Given the description of an element on the screen output the (x, y) to click on. 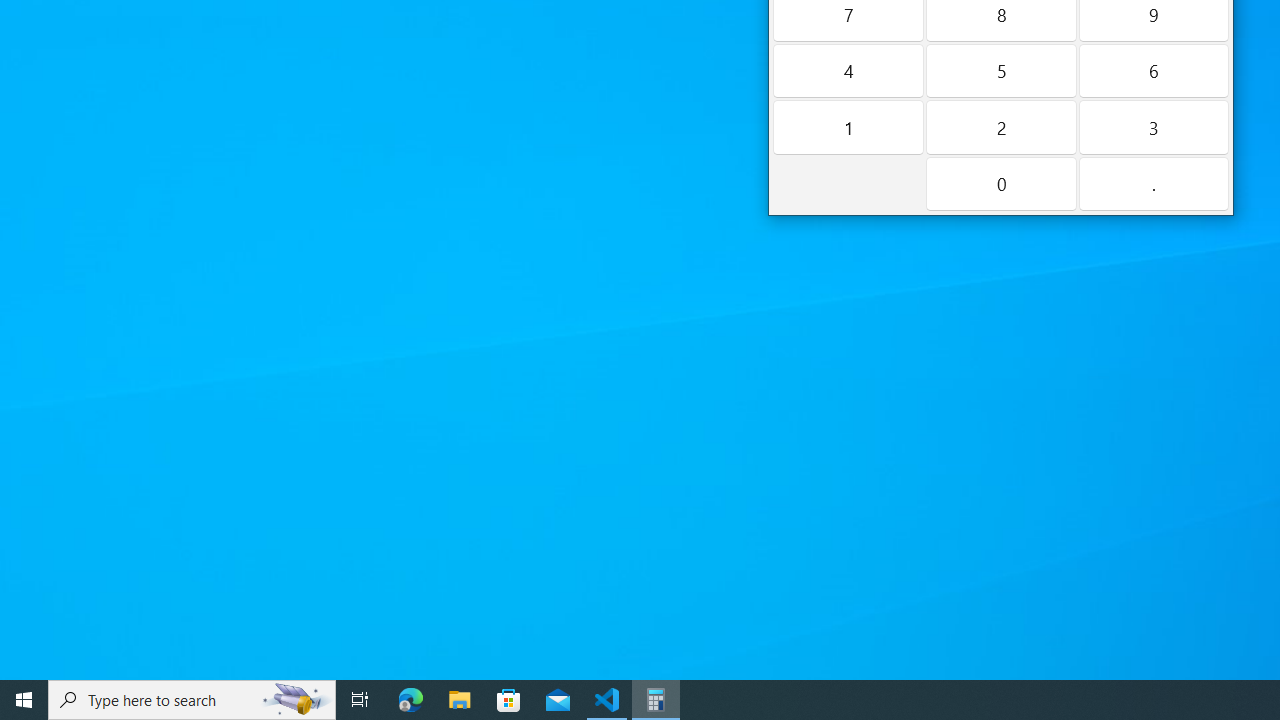
Four (848, 70)
One (848, 127)
Start (24, 699)
